Given the description of an element on the screen output the (x, y) to click on. 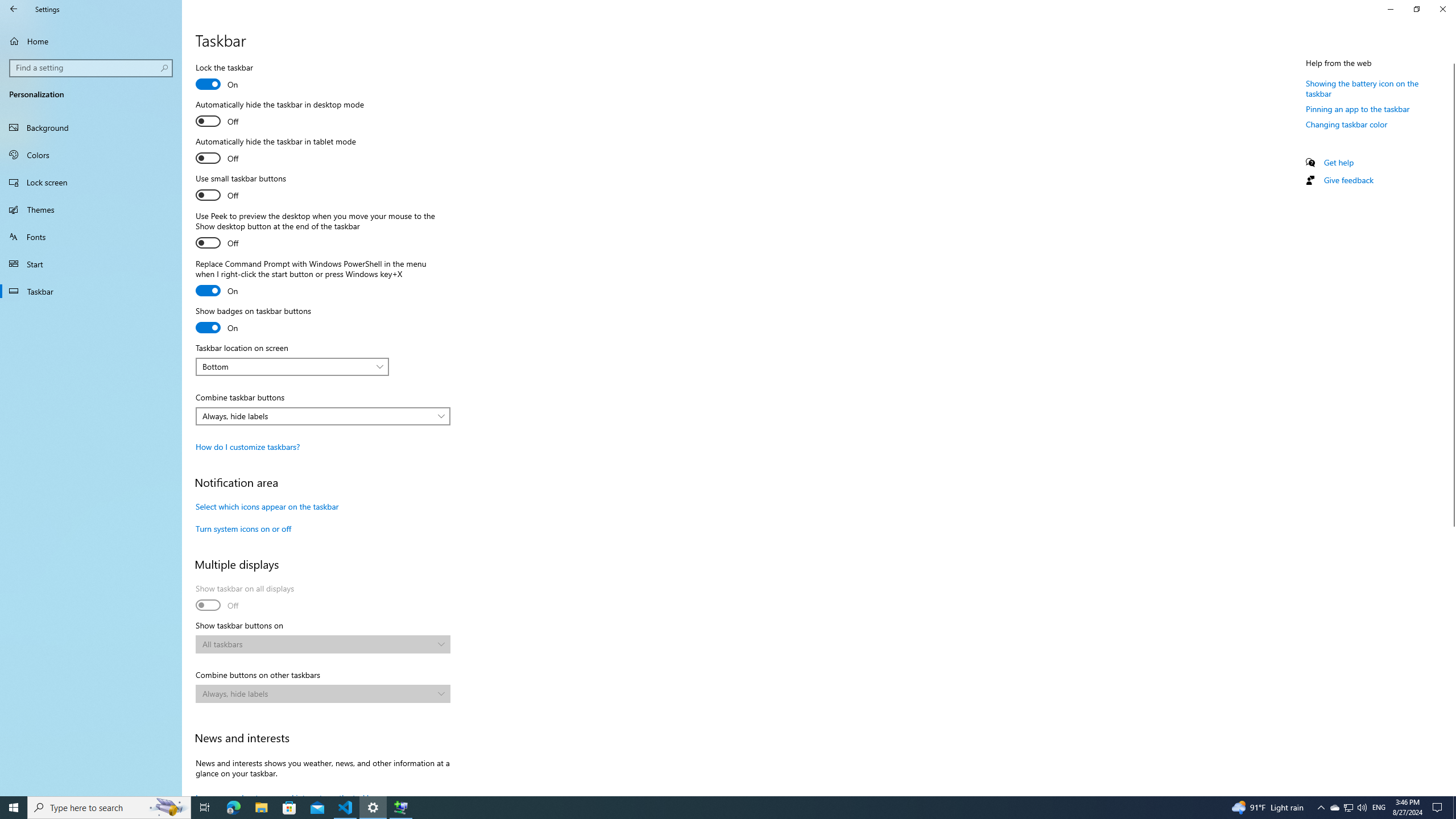
Running applications (706, 807)
Bottom (286, 366)
Lock the taskbar (237, 77)
Extensible Wizards Host Process - 1 running window (400, 807)
Show taskbar on all displays (244, 598)
Fonts (91, 236)
Minimize Settings (1390, 9)
Search box, Find a setting (91, 67)
Restore Settings (1416, 9)
Turn system icons on or off (243, 528)
Background (91, 126)
